Given the description of an element on the screen output the (x, y) to click on. 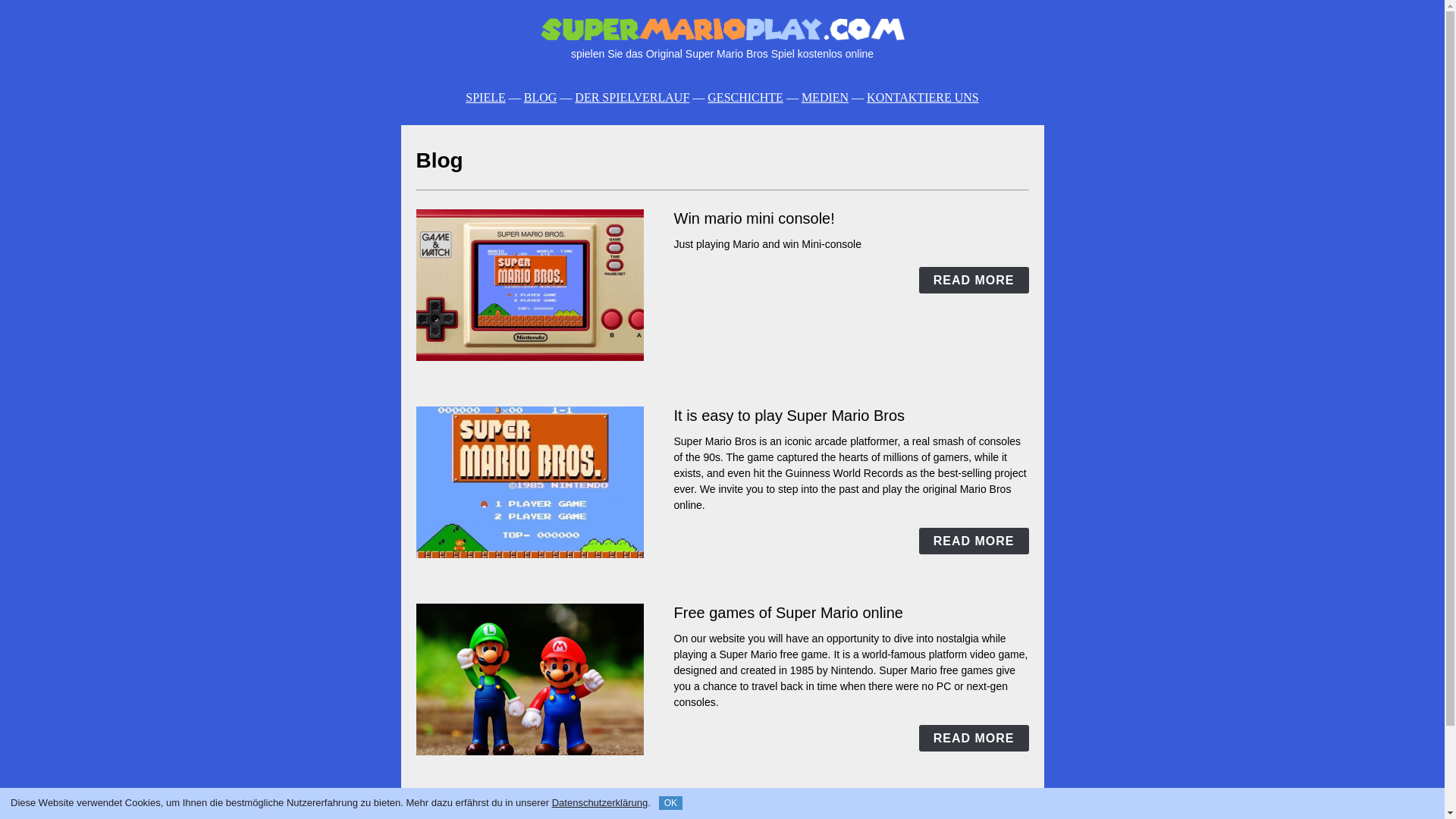
GESCHICHTE (745, 97)
READ MORE (973, 540)
Spielen Sie Super Mario Bros. online (722, 29)
SPIELE (485, 97)
DER SPIELVERLAUF (631, 97)
BLOG (540, 97)
Win mario mini console! (753, 217)
KONTAKTIERE UNS (922, 97)
MEDIEN (825, 97)
It is easy to play Super Mario Bros (788, 415)
